Given the description of an element on the screen output the (x, y) to click on. 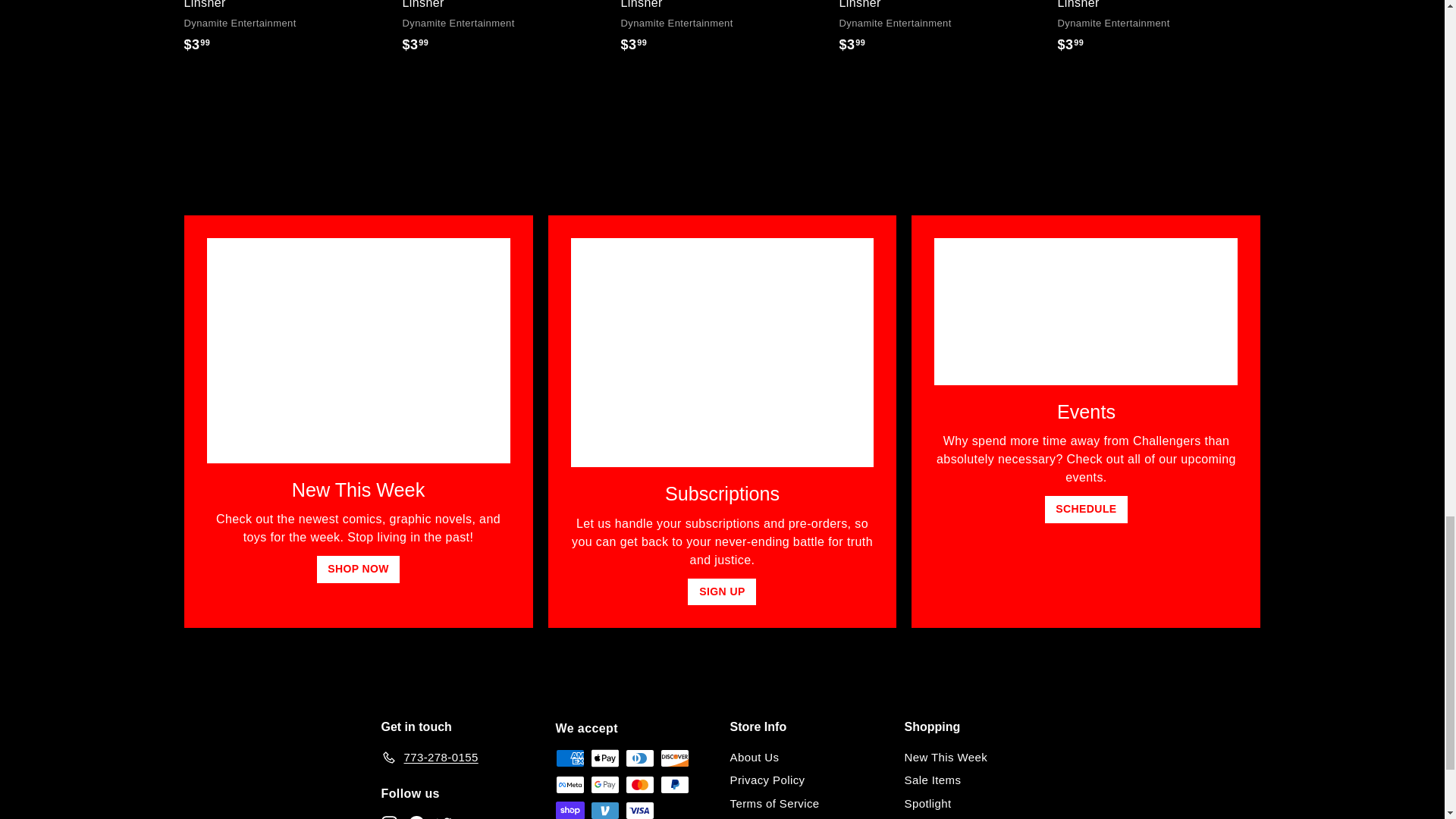
Challengers Comics on Instagram (388, 816)
instagram (388, 817)
Diners Club (638, 758)
twitter (443, 817)
Challengers Comics on Facebook (415, 816)
Challengers Comics on Twitter (443, 816)
American Express (568, 758)
Apple Pay (603, 758)
